Given the description of an element on the screen output the (x, y) to click on. 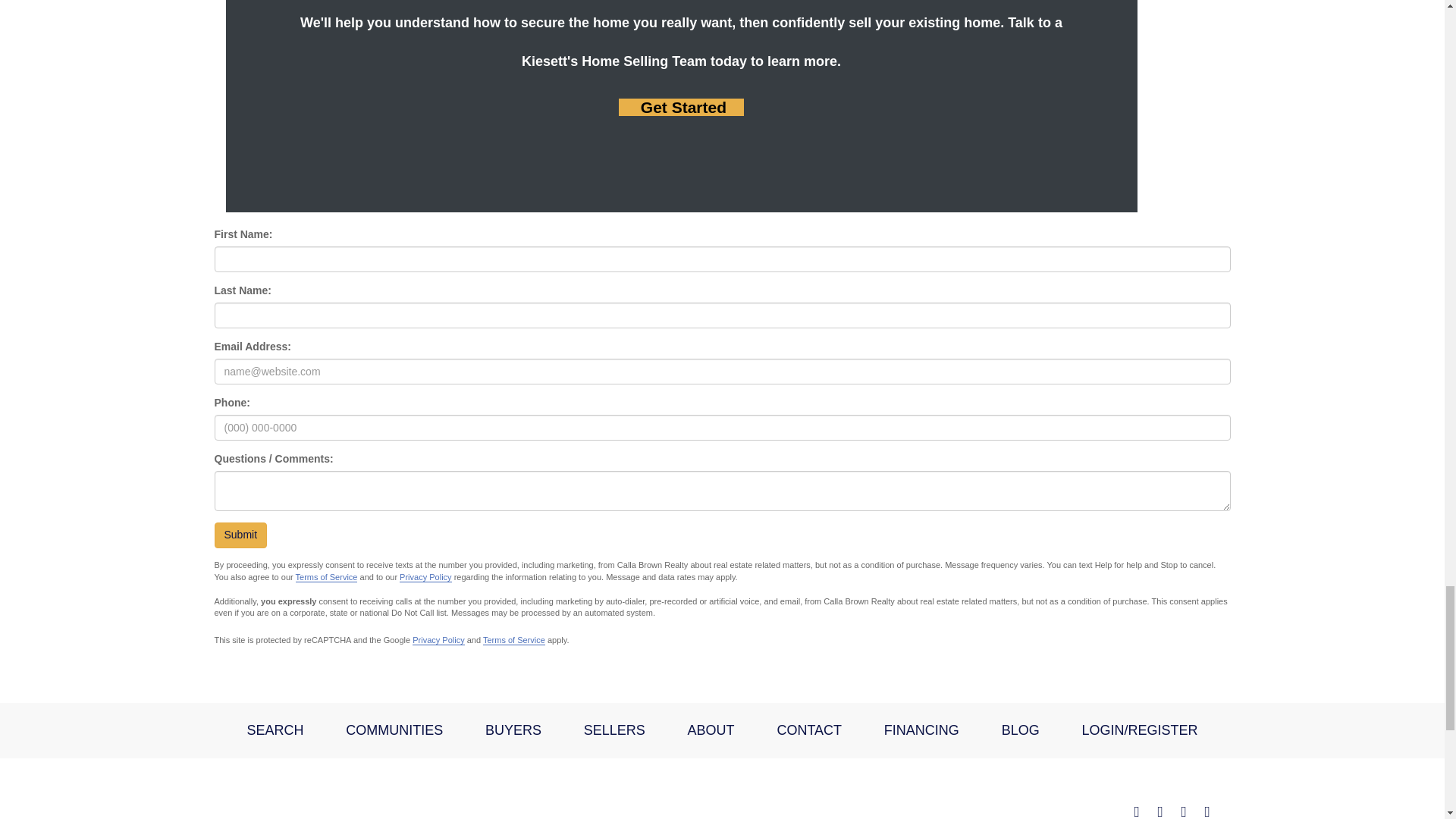
Please enter your question (722, 490)
Home Page (344, 785)
Follow us on Instagram (1160, 807)
Follow us on YouTube (1207, 807)
Follow us on LinkedIn (1183, 807)
Follow us on Facebook (1136, 807)
